Given the description of an element on the screen output the (x, y) to click on. 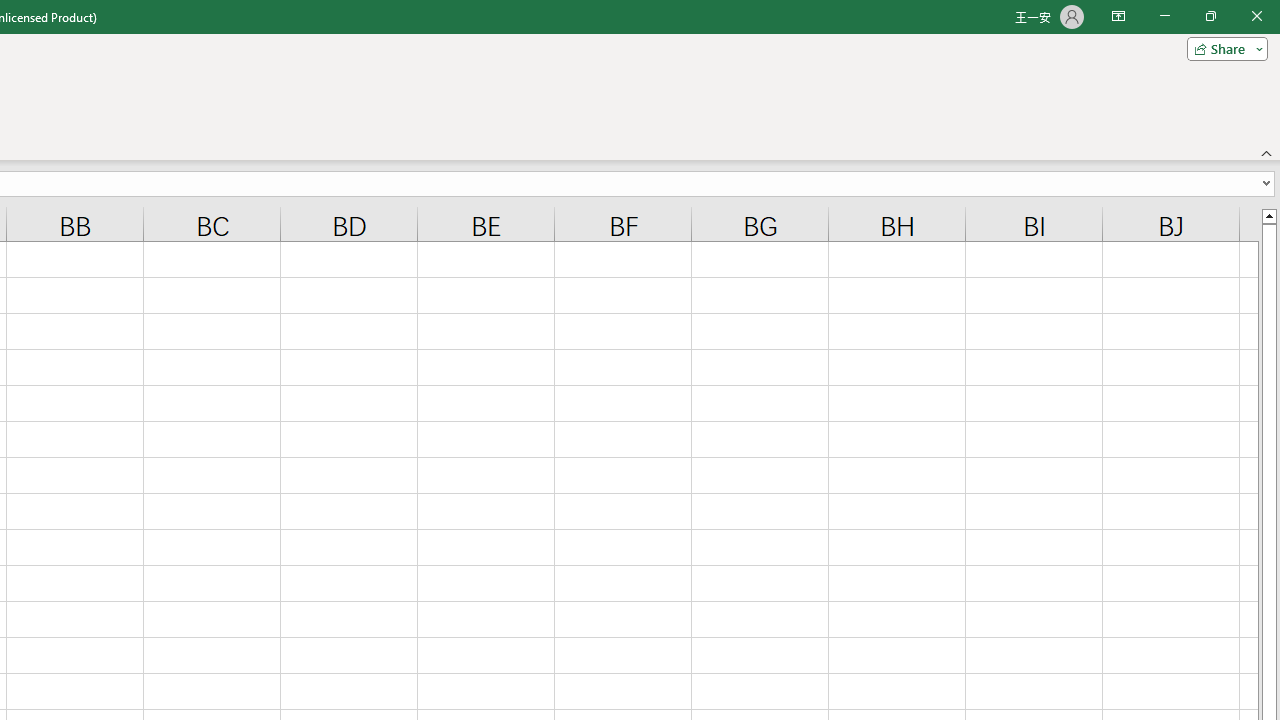
Minimize (1164, 16)
Close (1256, 16)
Line up (1268, 215)
Collapse the Ribbon (1267, 152)
Ribbon Display Options (1118, 16)
Share (1223, 48)
Restore Down (1210, 16)
